Given the description of an element on the screen output the (x, y) to click on. 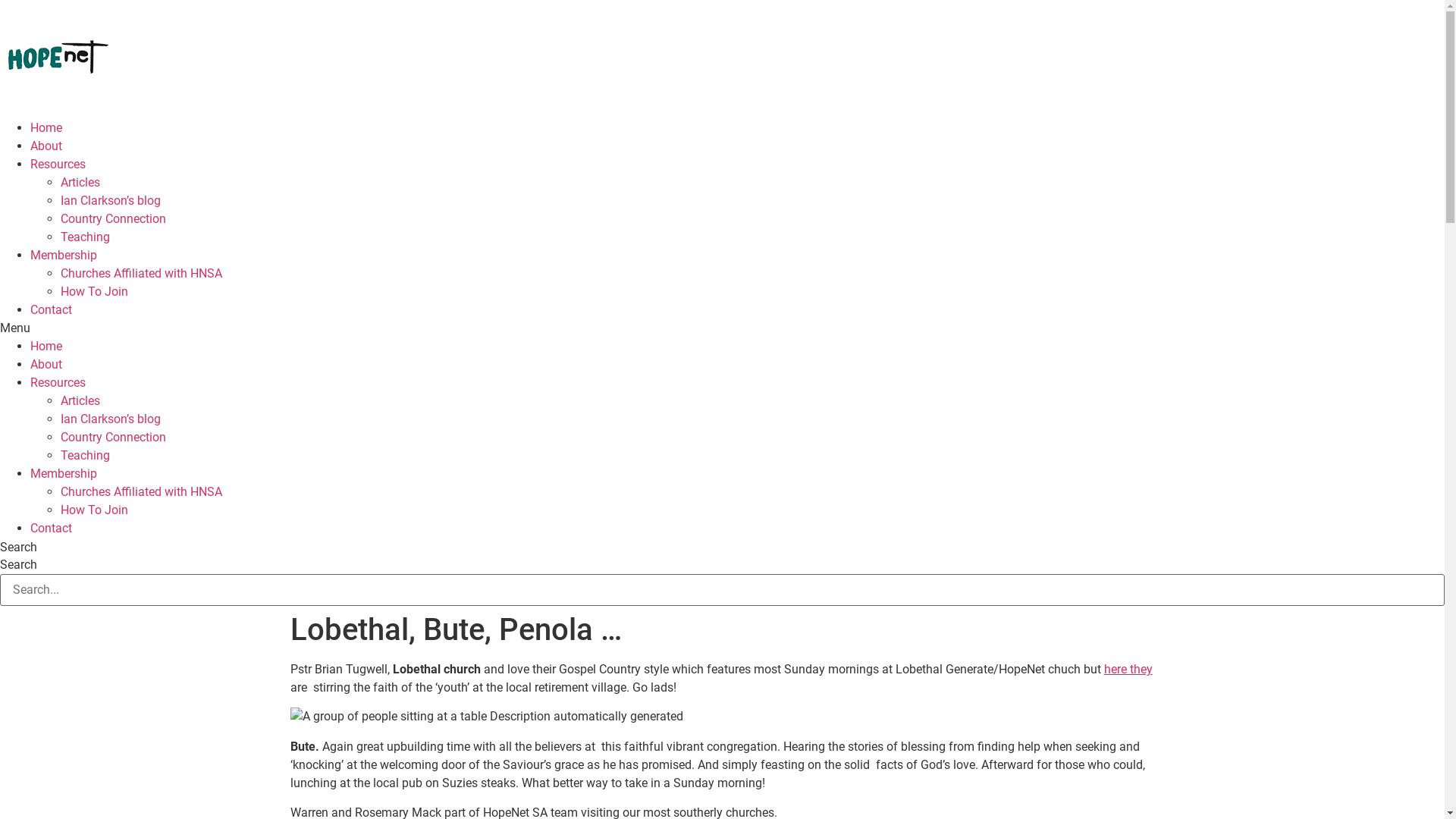
How To Join Element type: text (94, 291)
Churches Affiliated with HNSA Element type: text (141, 273)
here they Element type: text (1128, 669)
Membership Element type: text (63, 473)
Articles Element type: text (80, 400)
Articles Element type: text (80, 182)
Resources Element type: text (57, 382)
About Element type: text (46, 145)
Resources Element type: text (57, 163)
Country Connection Element type: text (113, 218)
Home Element type: text (46, 345)
Home Element type: text (46, 127)
Teaching Element type: text (84, 455)
Teaching Element type: text (84, 236)
Membership Element type: text (63, 254)
Churches Affiliated with HNSA Element type: text (141, 491)
How To Join Element type: text (94, 509)
About Element type: text (46, 364)
Country Connection Element type: text (113, 436)
Contact Element type: text (51, 527)
Contact Element type: text (51, 309)
